Given the description of an element on the screen output the (x, y) to click on. 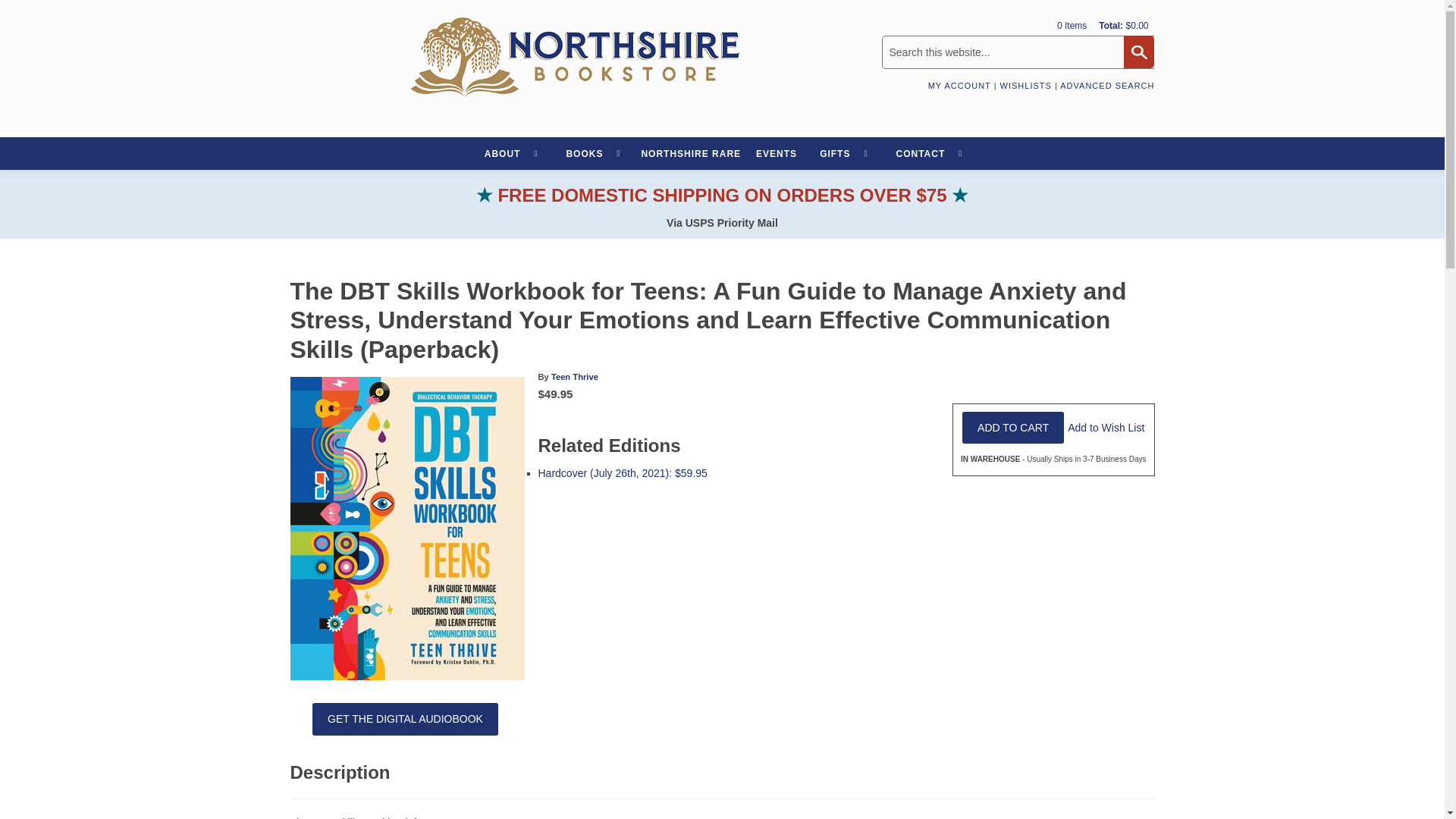
Search this website... (1017, 52)
ADVANCED SEARCH (1106, 85)
Add to Cart (1013, 427)
ABOUT (509, 153)
WISHLISTS (1025, 85)
MY ACCOUNT (959, 85)
Get the Digital Audiobook (405, 718)
